Given the description of an element on the screen output the (x, y) to click on. 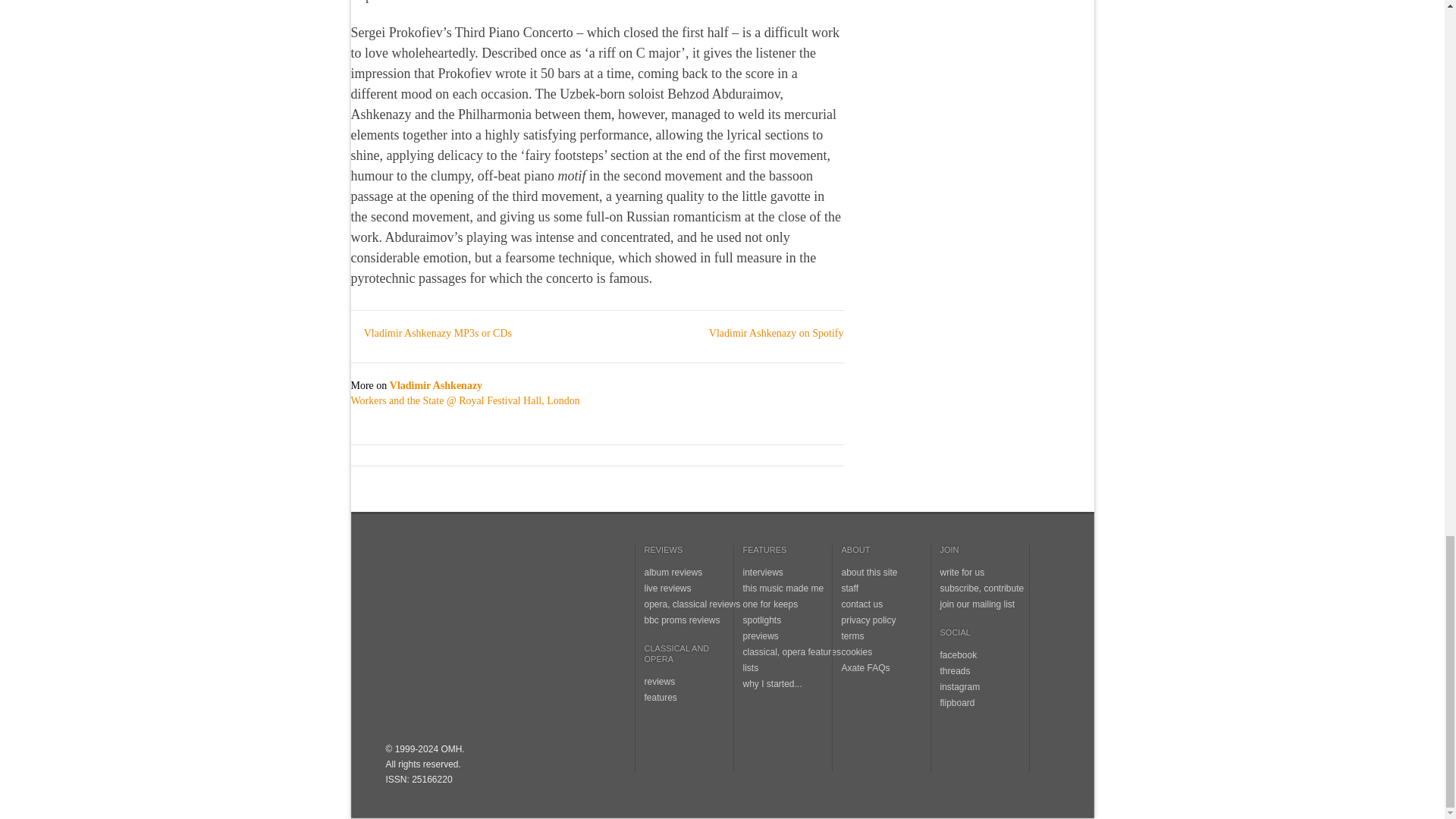
reviews (660, 681)
album reviews (674, 572)
bbc proms reviews (682, 620)
Vladimir Ashkenazy on Spotify (769, 333)
Vladimir Ashkenazy MP3s or CDs (430, 333)
opera, classical reviews (693, 603)
features (661, 697)
Vladimir Ashkenazy (435, 385)
live reviews (668, 588)
interviews (762, 572)
